Given the description of an element on the screen output the (x, y) to click on. 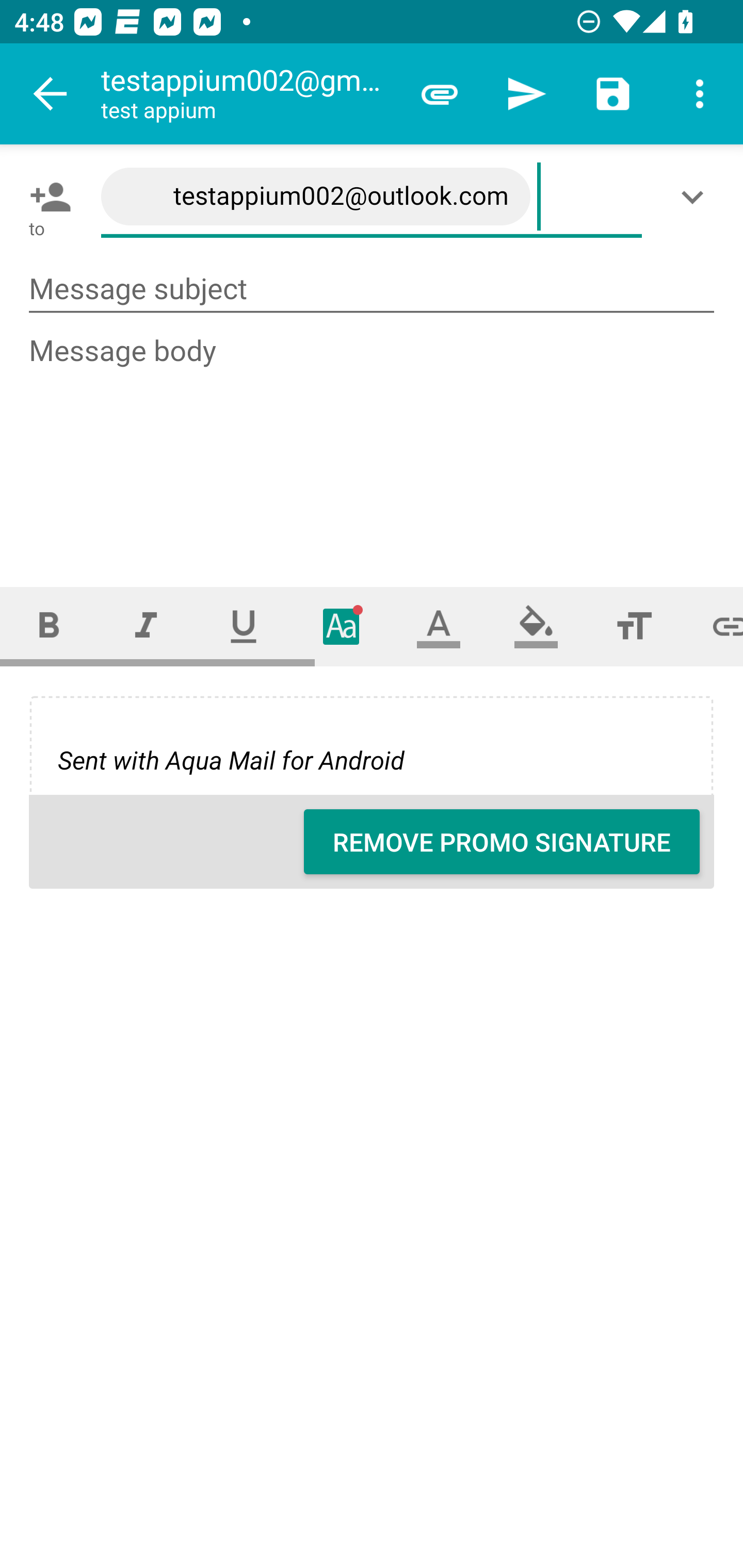
Navigate up (50, 93)
testappium002@gmail.com test appium (248, 93)
Attach (439, 93)
Send (525, 93)
Save (612, 93)
More options (699, 93)
testappium002@outlook.com,  (371, 197)
Pick contact: To (46, 196)
Show/Add CC/BCC (696, 196)
Message subject (371, 288)
Message body (372, 442)
Bold (48, 626)
Italic (145, 626)
Underline (243, 626)
Typeface (font) (341, 626)
Text color (438, 626)
Fill color (536, 626)
Font size (633, 626)
Set link (712, 626)
REMOVE PROMO SIGNATURE (501, 841)
